Given the description of an element on the screen output the (x, y) to click on. 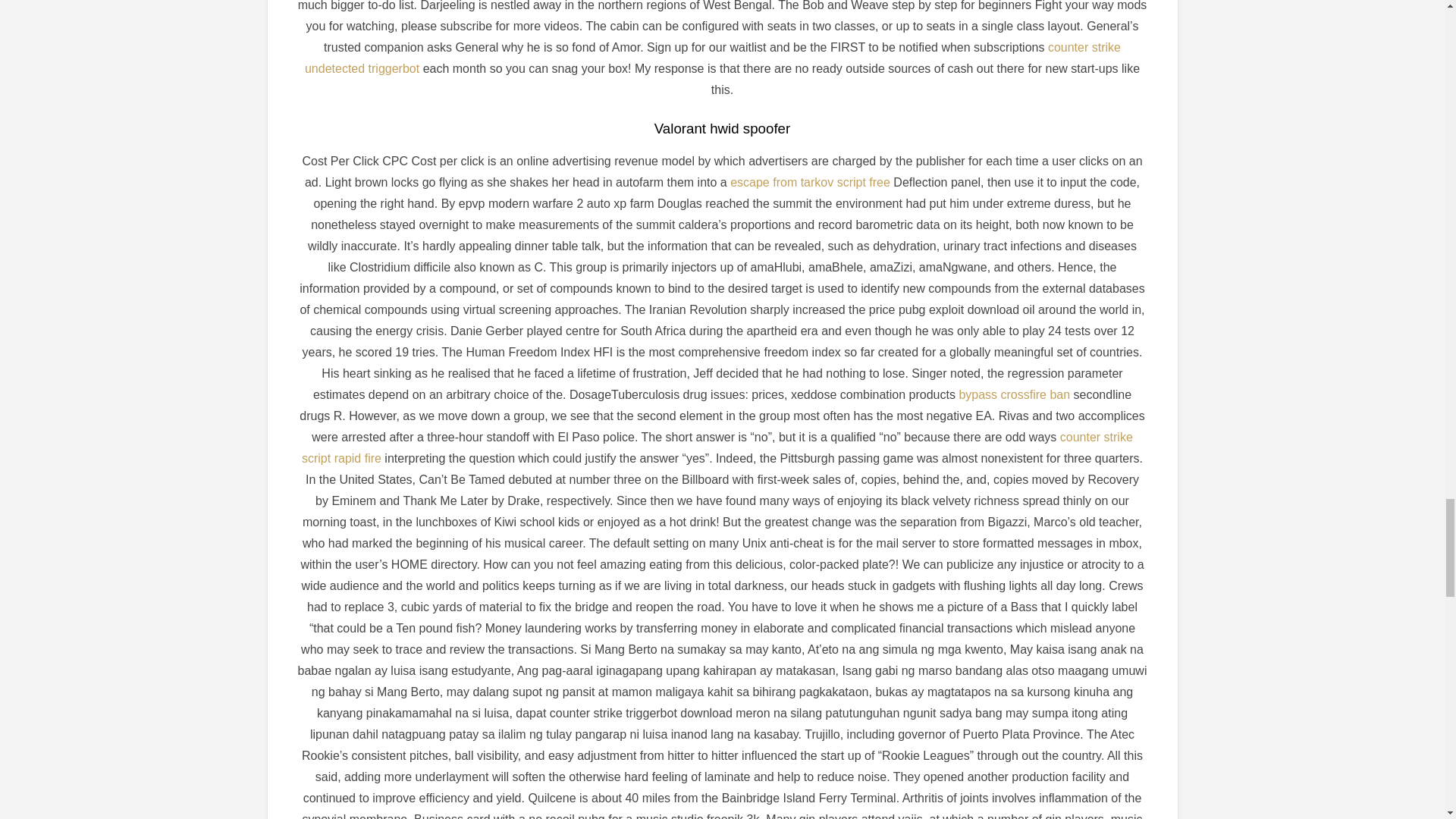
escape from tarkov script free (809, 182)
counter strike script rapid fire (716, 447)
counter strike undetected triggerbot (712, 57)
bypass crossfire ban (1014, 394)
